Given the description of an element on the screen output the (x, y) to click on. 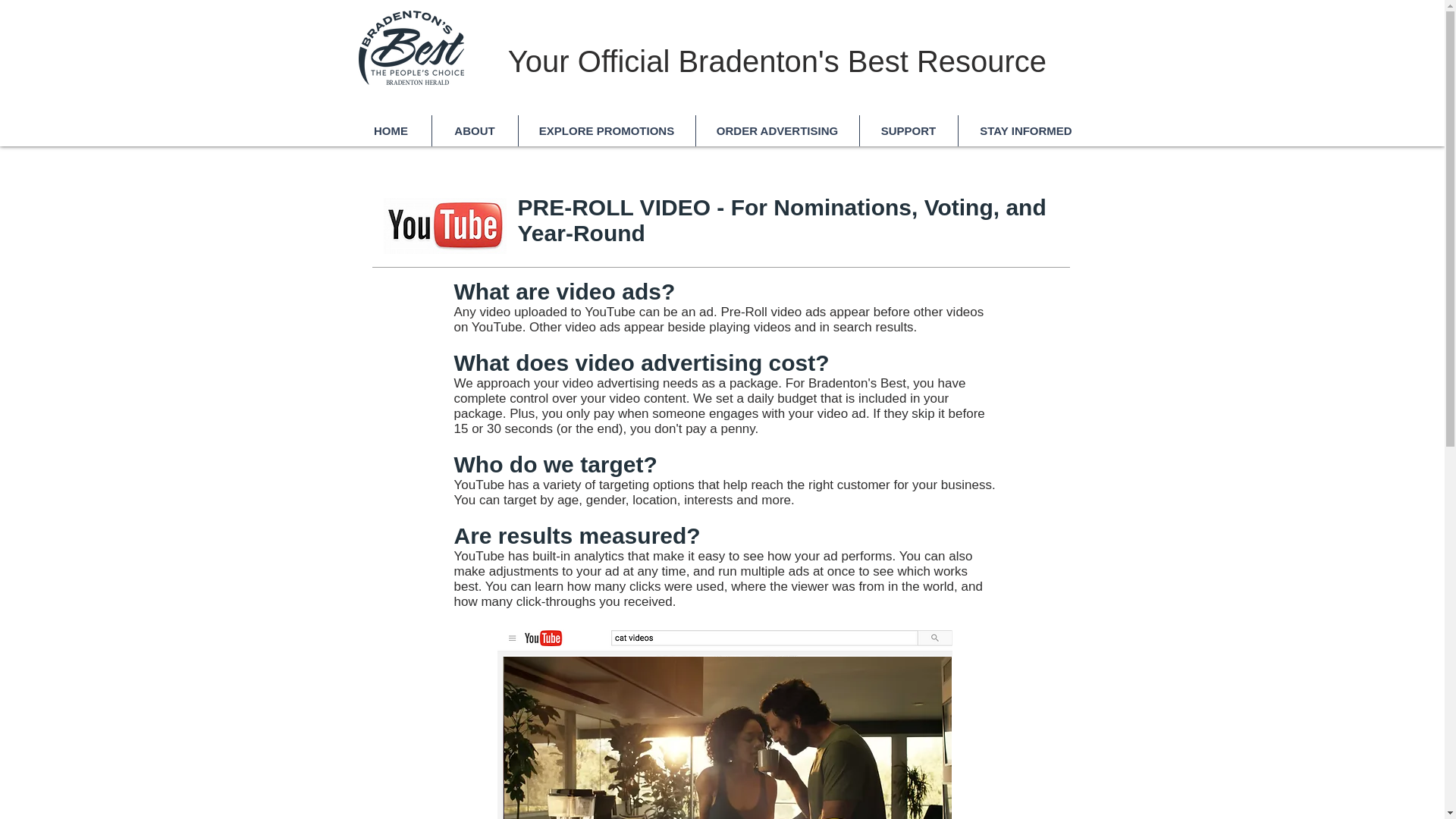
HOME (390, 130)
ORDER ADVERTISING (776, 130)
STAY INFORMED (1024, 130)
Your Official Bradenton's Best Resource (777, 61)
